Given the description of an element on the screen output the (x, y) to click on. 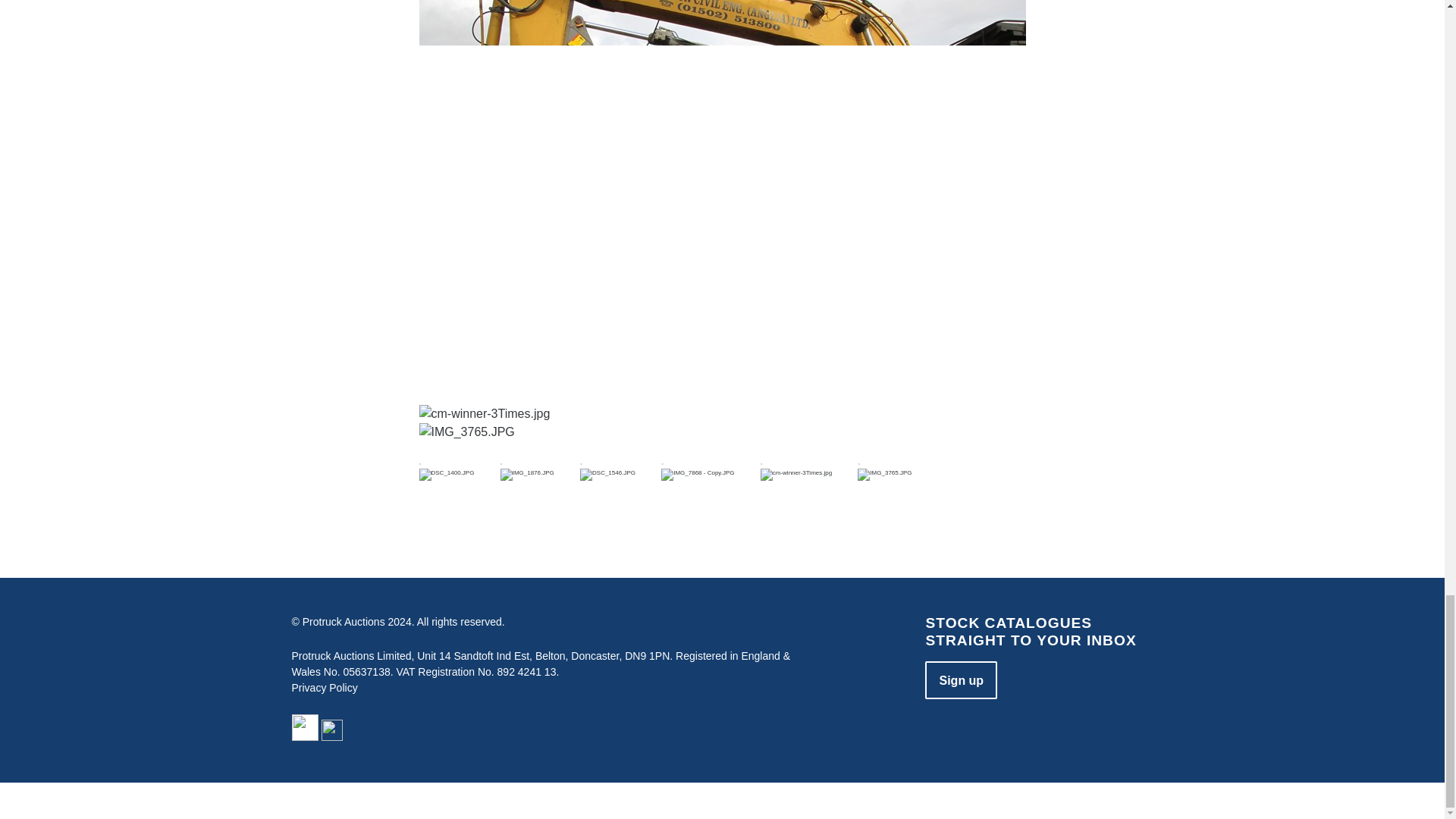
Privacy Policy (323, 687)
Sign up (960, 679)
